Given the description of an element on the screen output the (x, y) to click on. 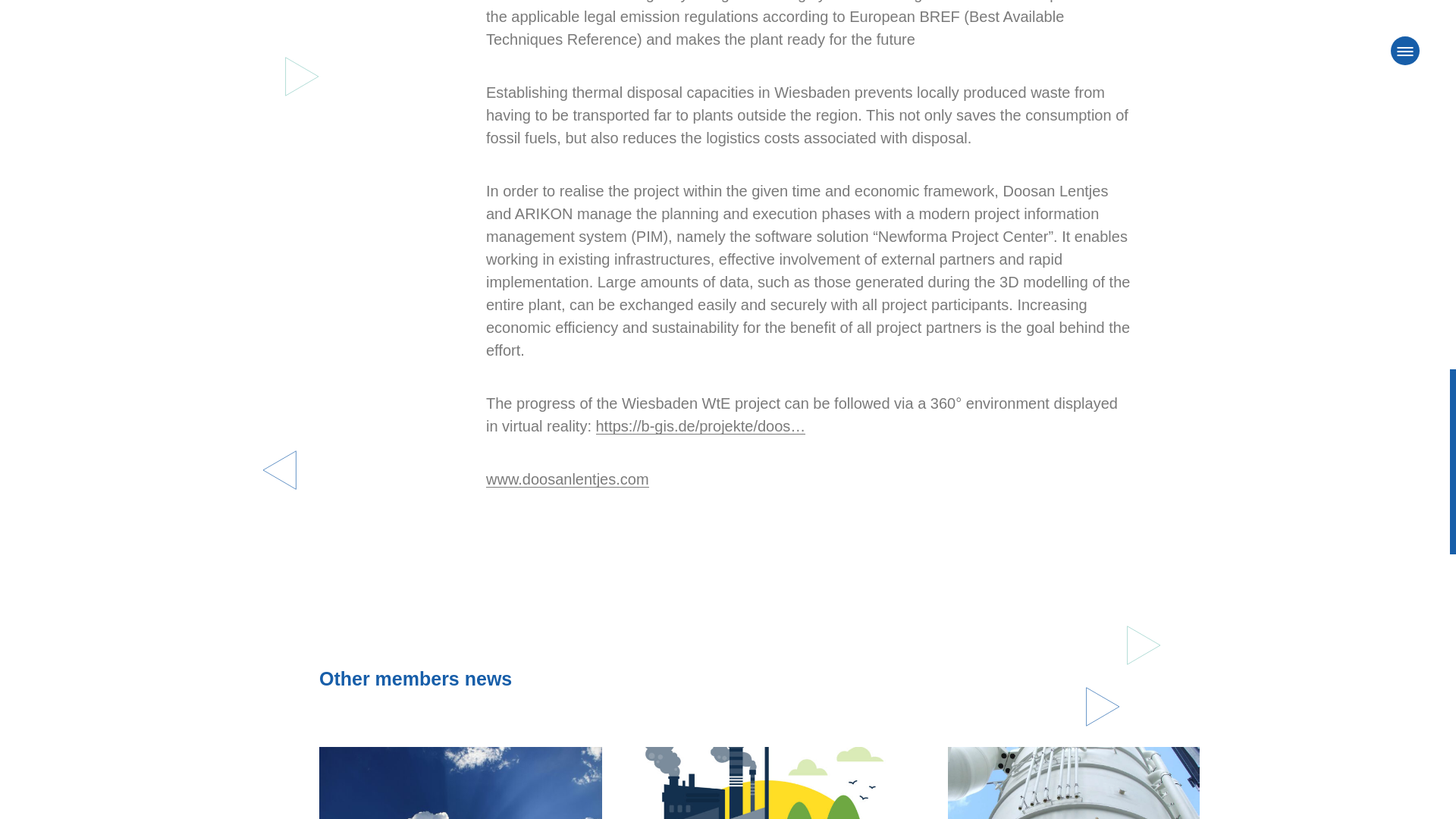
See news (765, 782)
See news (1072, 782)
See news (459, 782)
